Given the description of an element on the screen output the (x, y) to click on. 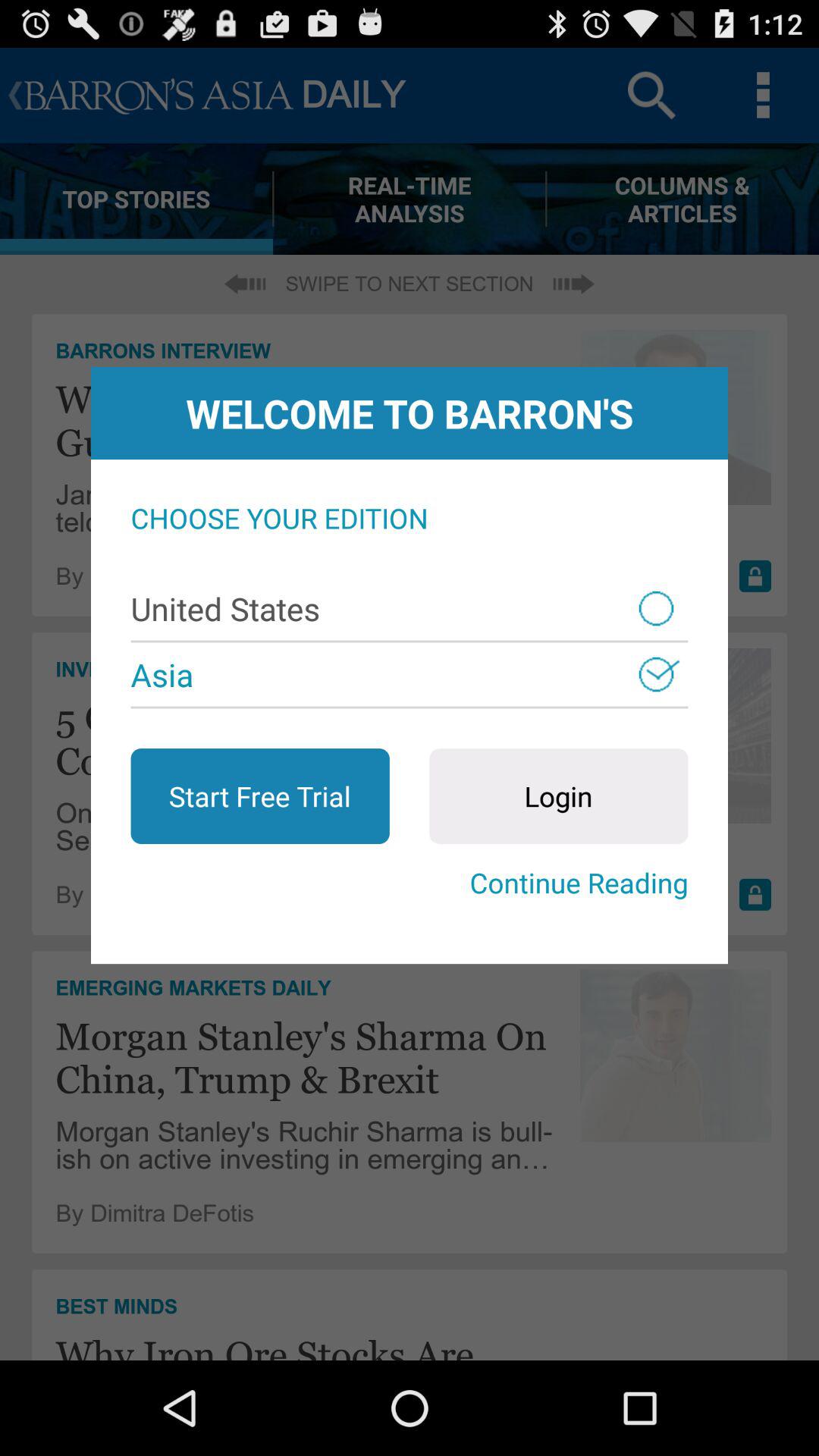
turn on button next to login (259, 796)
